Given the description of an element on the screen output the (x, y) to click on. 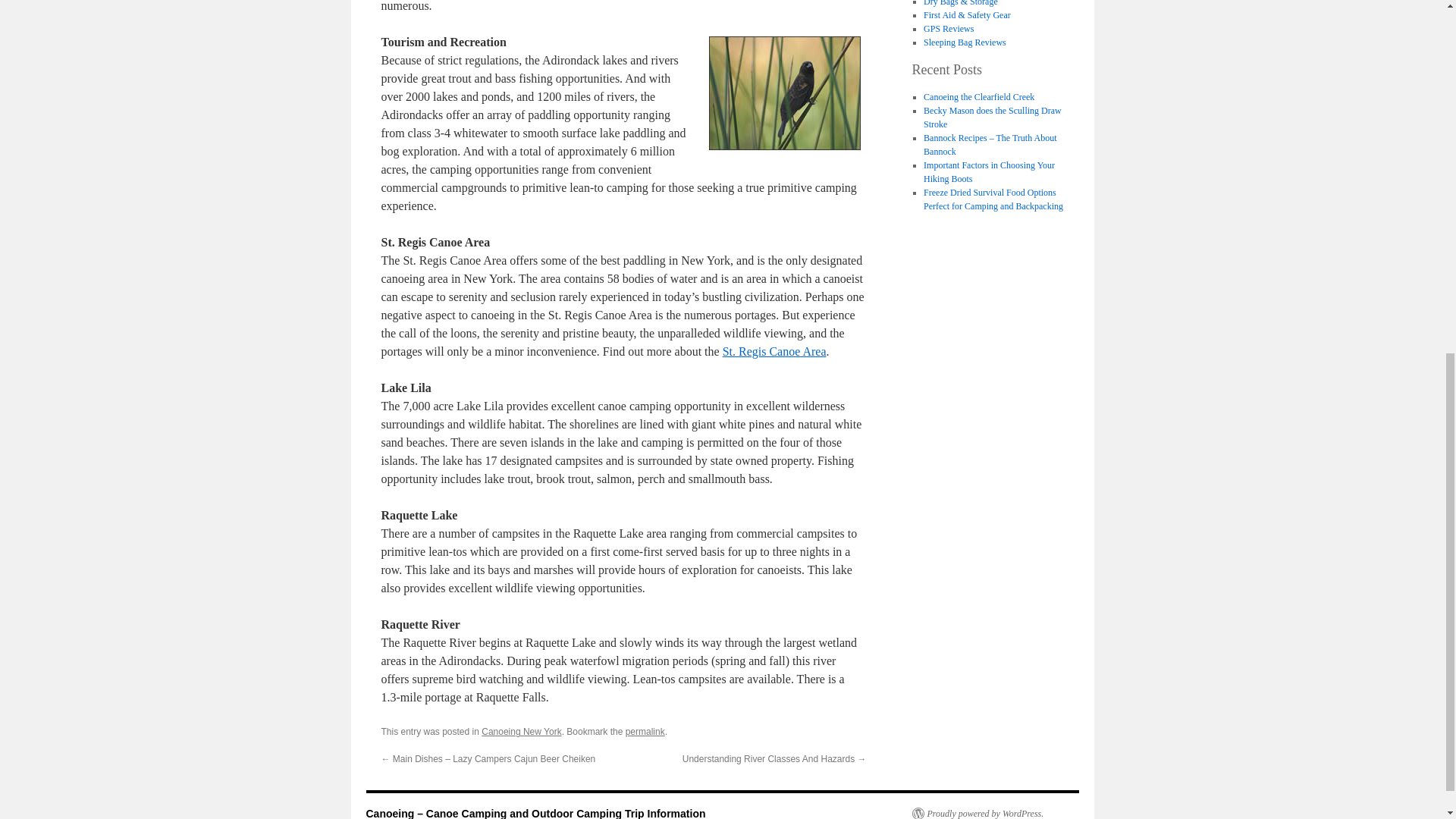
adirondacksbird (786, 96)
Becky Mason does the Sculling Draw Stroke (992, 117)
Canoeing the Clearfield Creek (978, 96)
permalink (645, 731)
Important Factors in Choosing Your Hiking Boots (988, 171)
Canoeing New York (520, 731)
St. Regis Canoe Area (774, 350)
Sleeping Bag Reviews (964, 41)
